Given the description of an element on the screen output the (x, y) to click on. 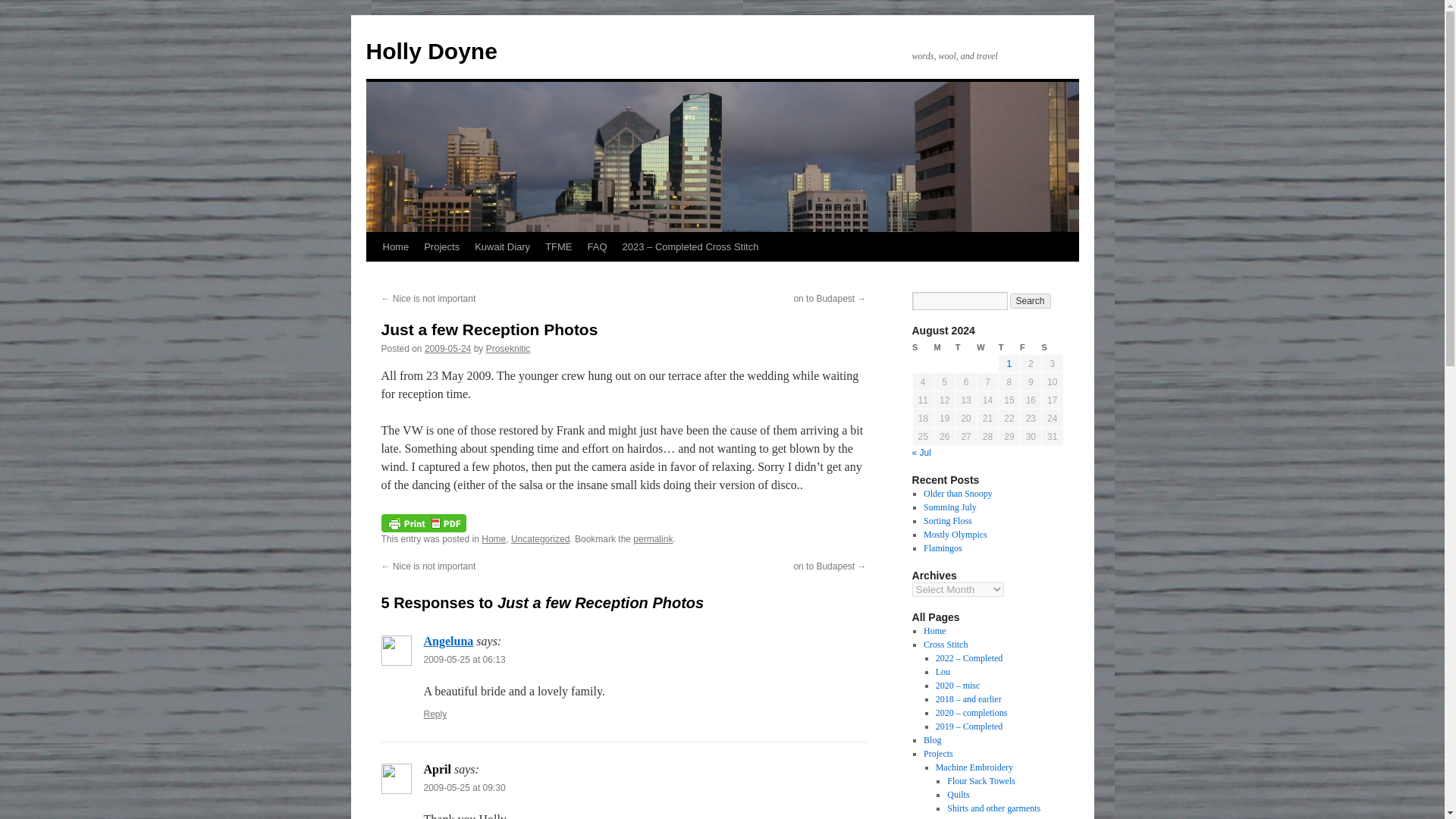
Saturday (1052, 347)
Sorting Floss (947, 520)
Mostly Olympics (955, 534)
permalink (652, 538)
Wednesday (986, 347)
2009-05-24 (447, 348)
Summing July (949, 507)
1 (1009, 363)
18:13 (447, 348)
Thursday (1009, 347)
Tuesday (965, 347)
Kuwait Diary (502, 246)
View all posts by Proseknitic (508, 348)
Holly Doyne (430, 50)
FAQ (596, 246)
